Given the description of an element on the screen output the (x, y) to click on. 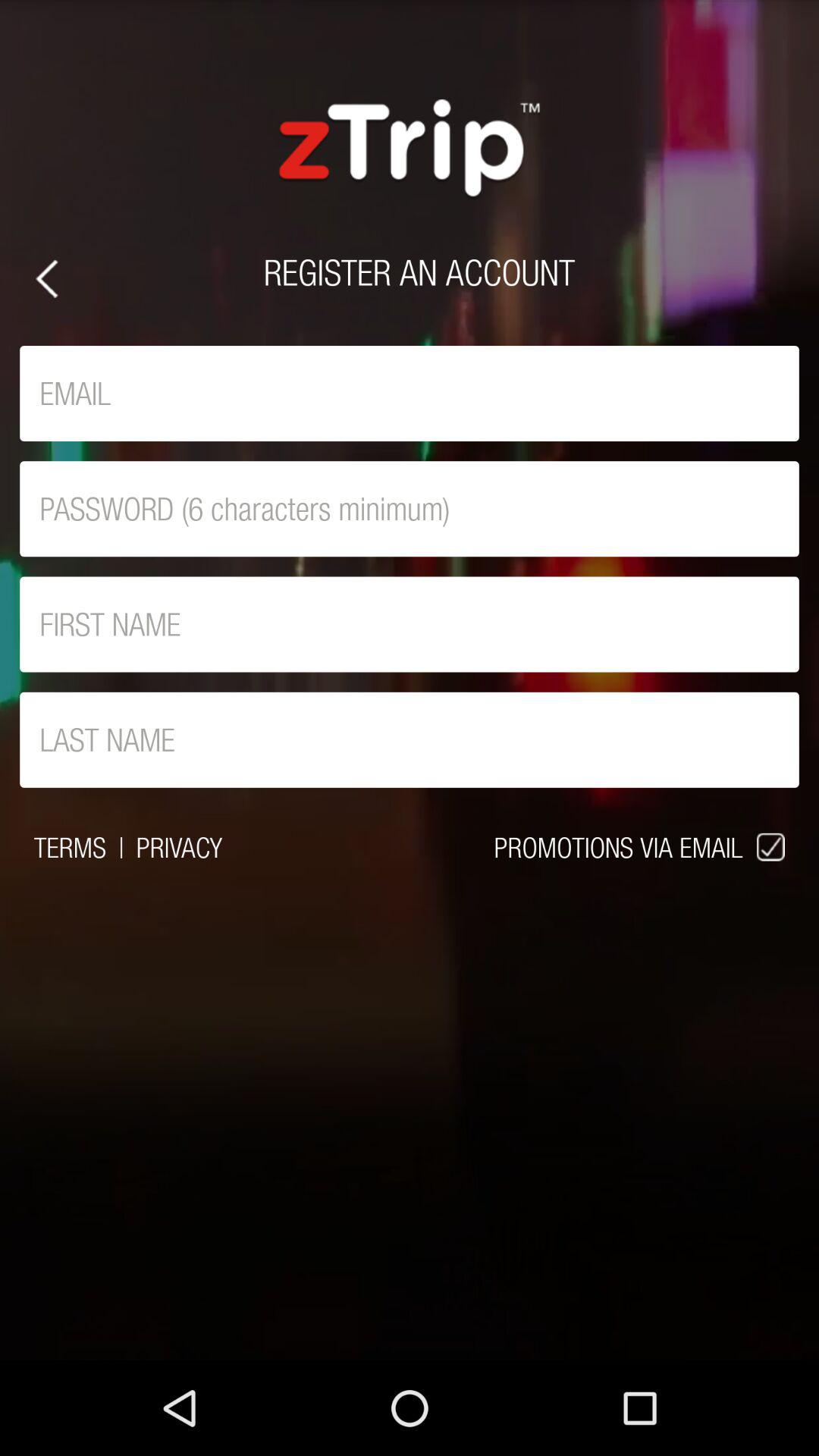
open the item next to | item (70, 847)
